Given the description of an element on the screen output the (x, y) to click on. 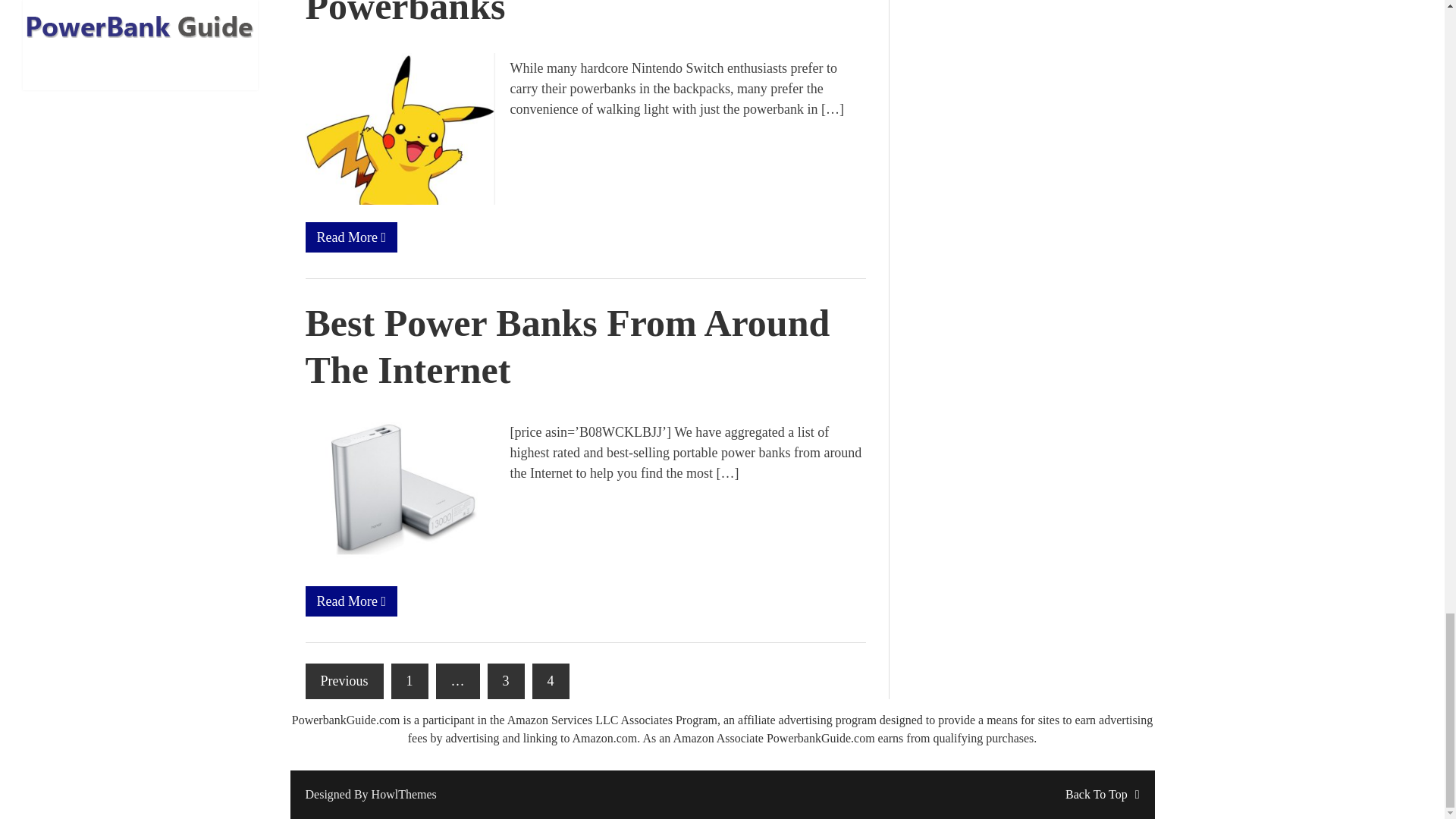
Back to top (1101, 793)
